Given the description of an element on the screen output the (x, y) to click on. 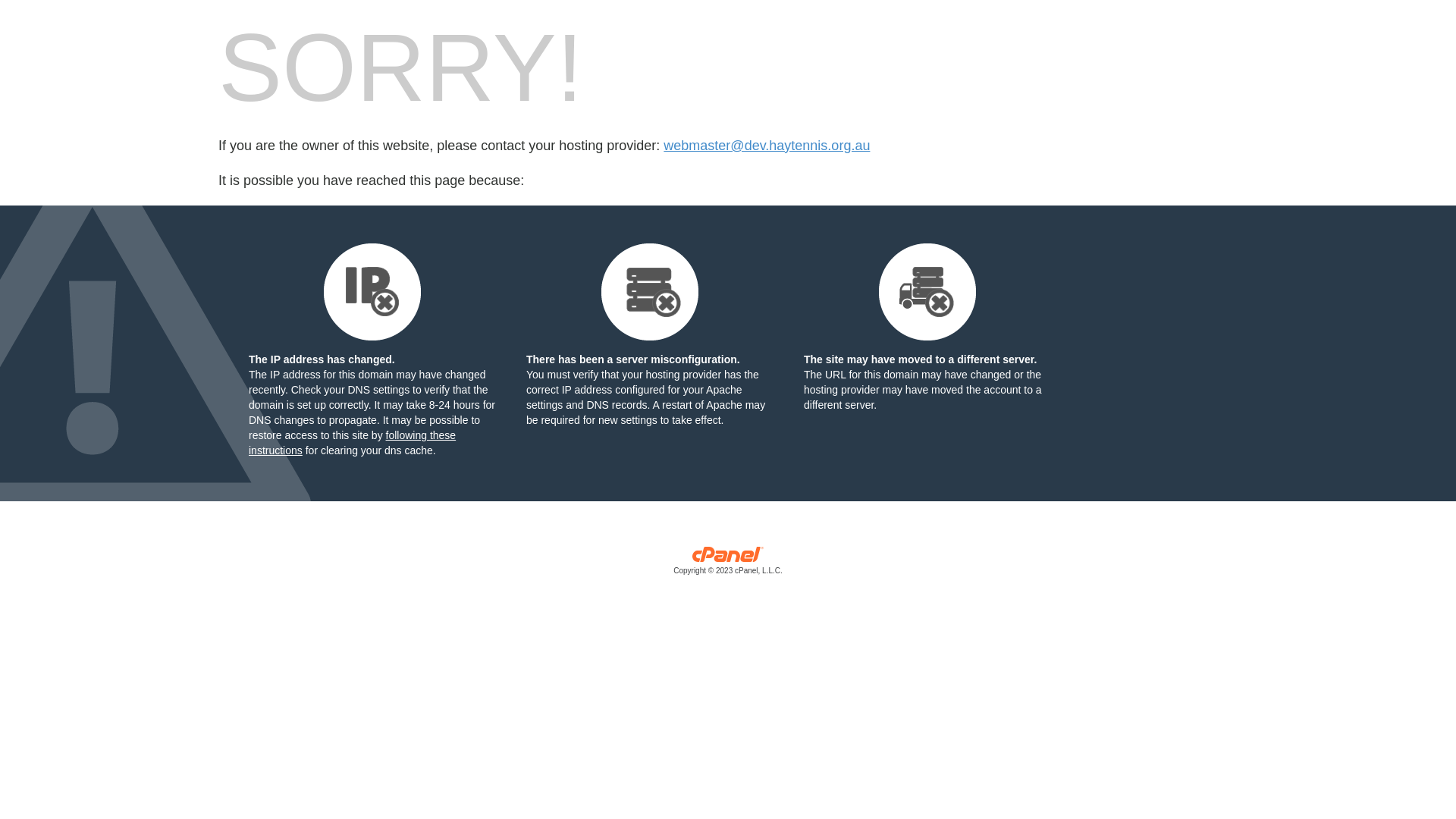
following these instructions Element type: text (351, 442)
webmaster@dev.haytennis.org.au Element type: text (766, 145)
